Given the description of an element on the screen output the (x, y) to click on. 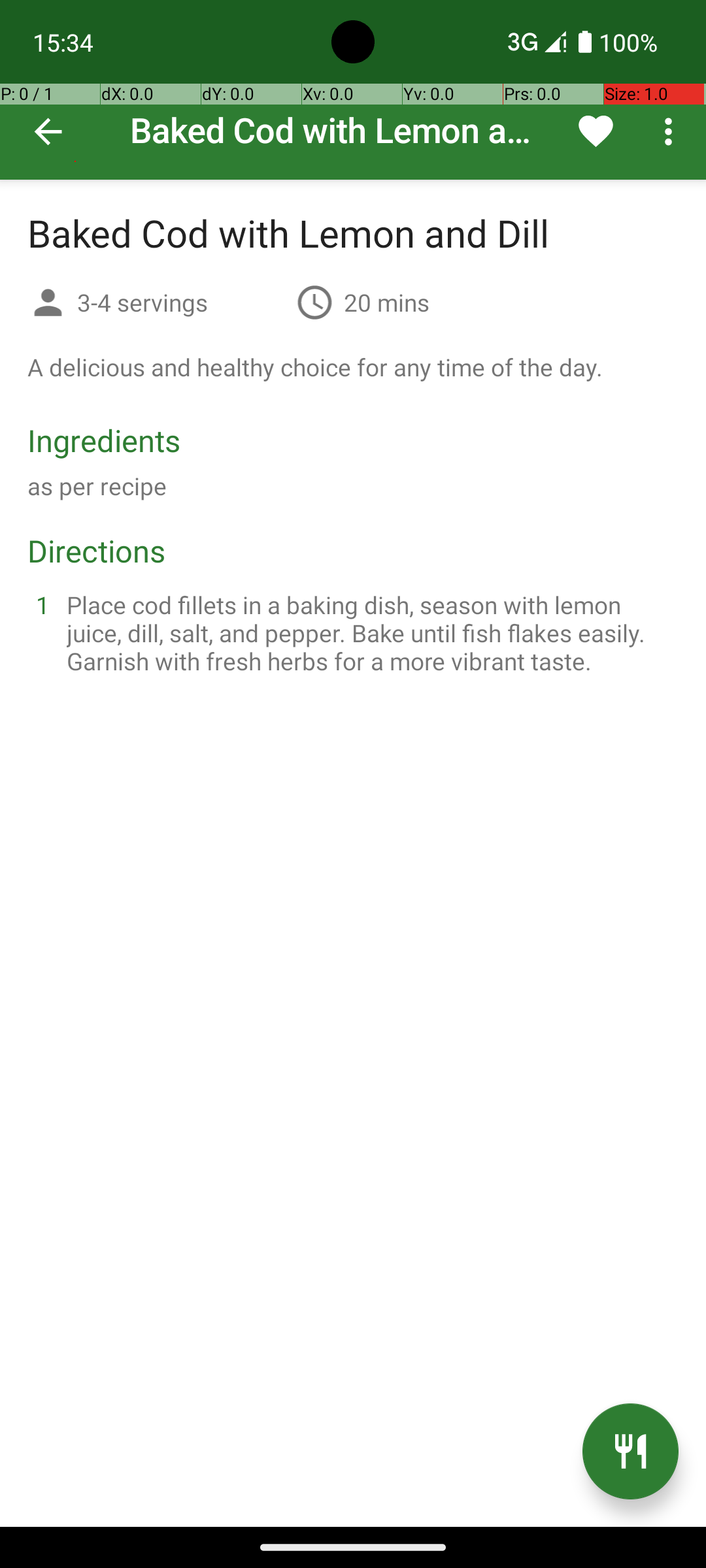
as per recipe Element type: android.widget.TextView (96, 485)
Place cod fillets in a baking dish, season with lemon juice, dill, salt, and pepper. Bake until fish flakes easily. Garnish with fresh herbs for a more vibrant taste. Element type: android.widget.TextView (368, 632)
